Given the description of an element on the screen output the (x, y) to click on. 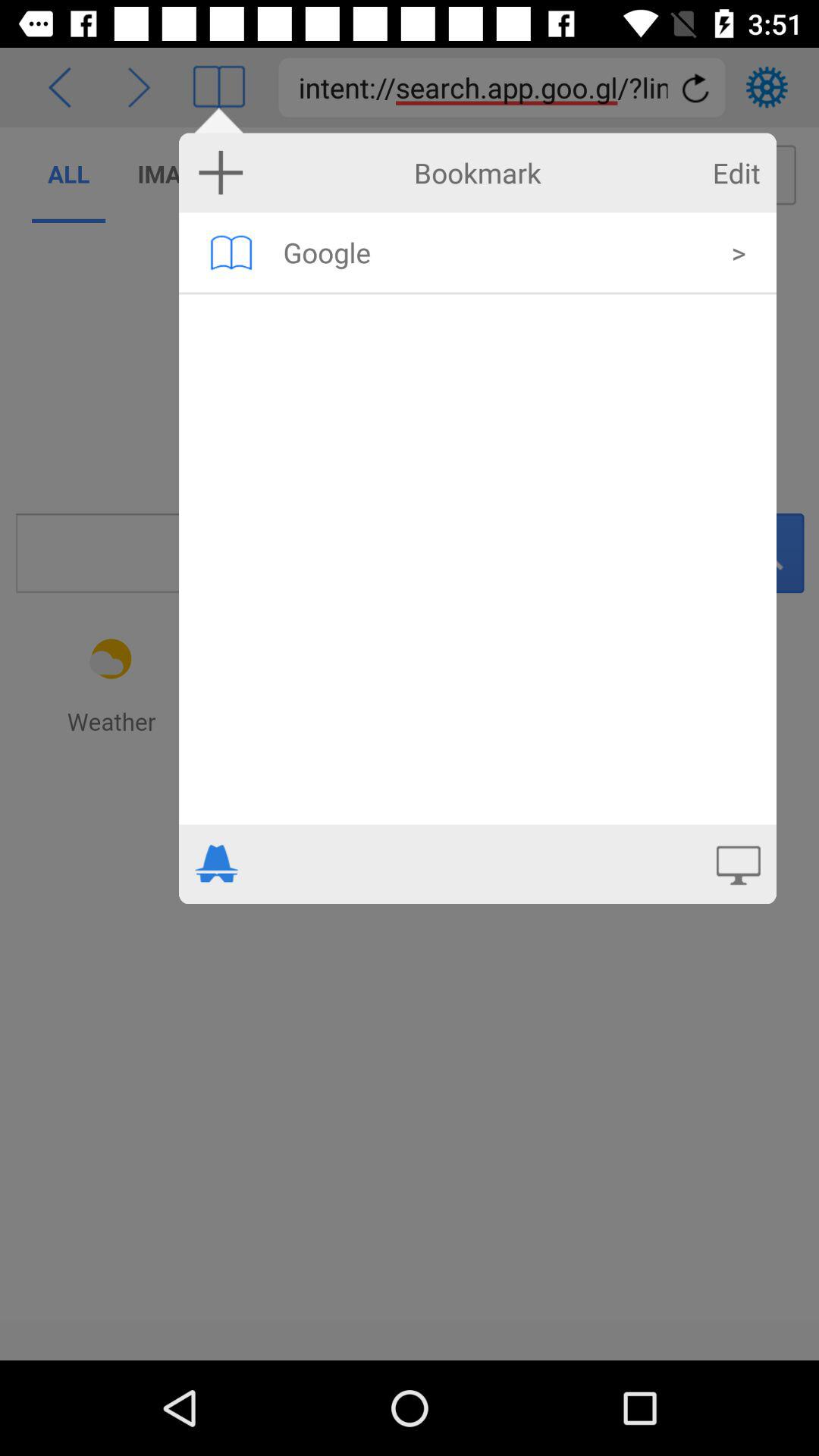
go to incognito (216, 864)
